Given the description of an element on the screen output the (x, y) to click on. 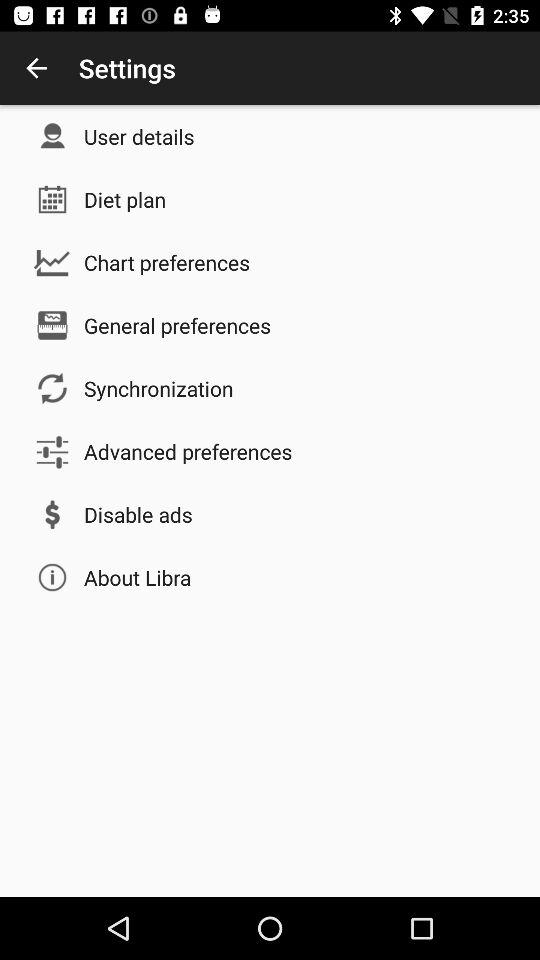
open app next to the settings icon (36, 68)
